Given the description of an element on the screen output the (x, y) to click on. 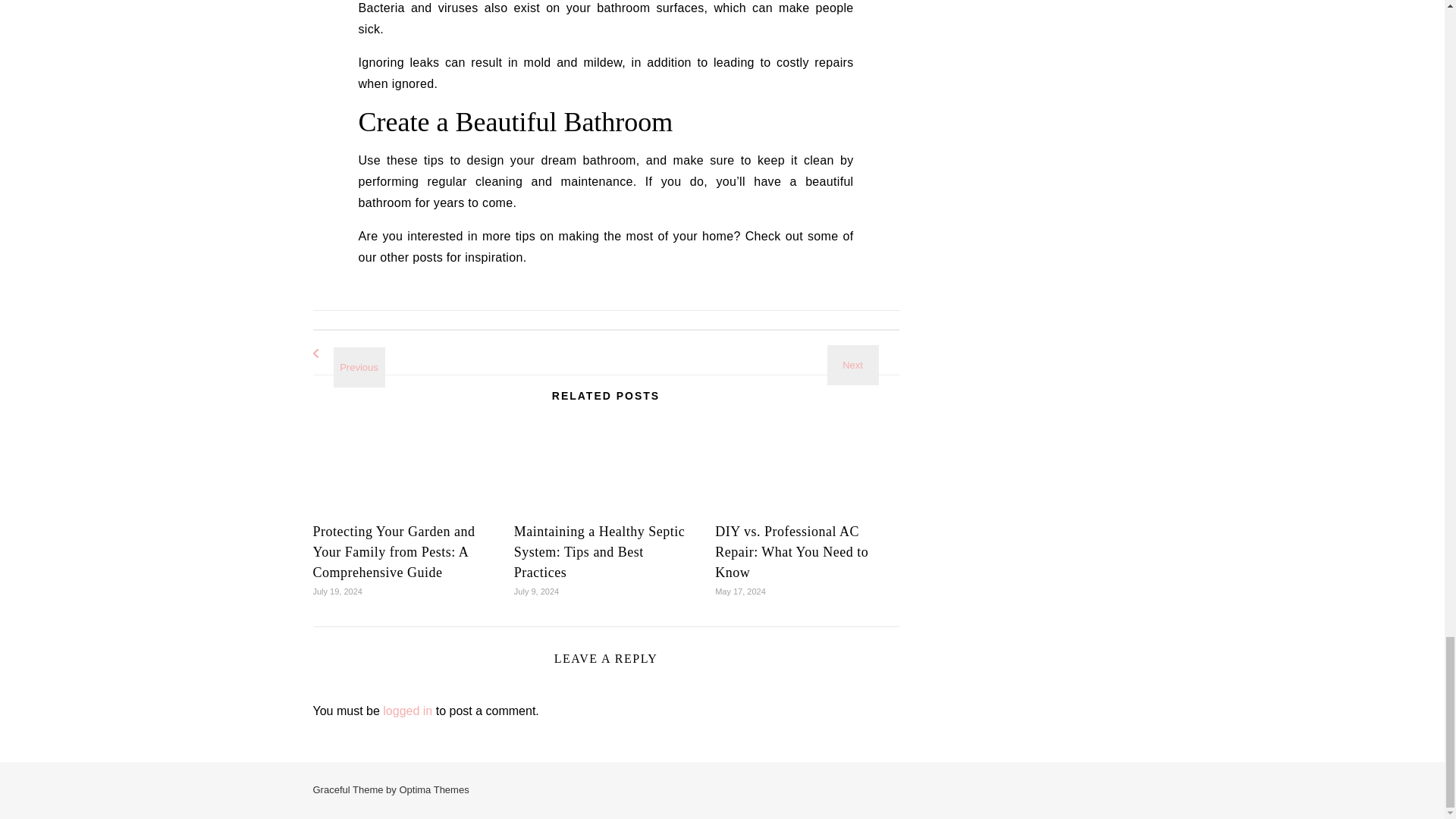
Protecting Your Memories with Online Photo Storage (865, 350)
DIY vs. Professional AC Repair: What You Need to Know (790, 551)
logged in (407, 710)
Classic Mistakes People Make When Moving Home (346, 353)
Maintaining a Healthy Septic System: Tips and Best Practices (598, 551)
